Given the description of an element on the screen output the (x, y) to click on. 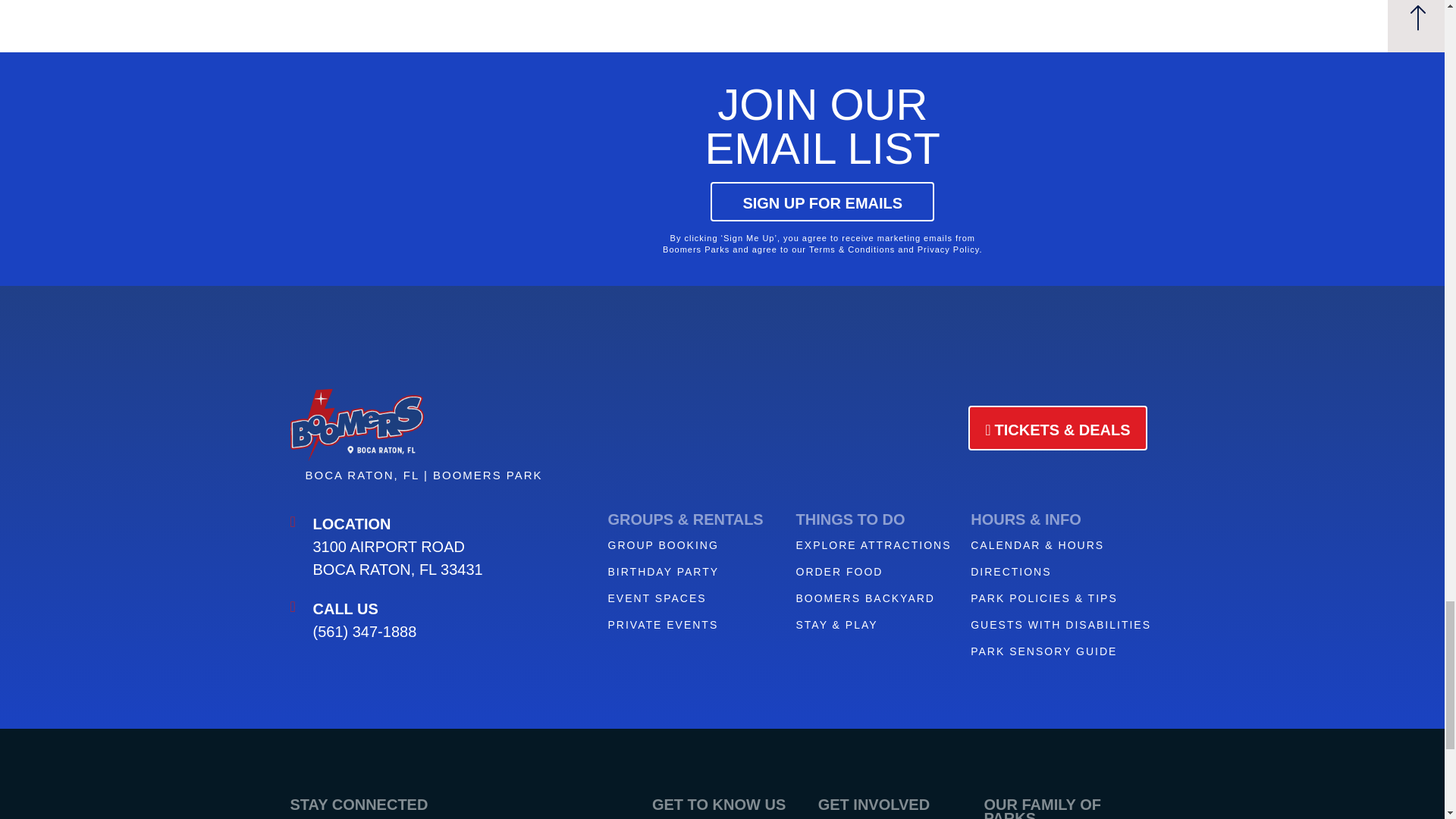
ARROW (1417, 17)
